Given the description of an element on the screen output the (x, y) to click on. 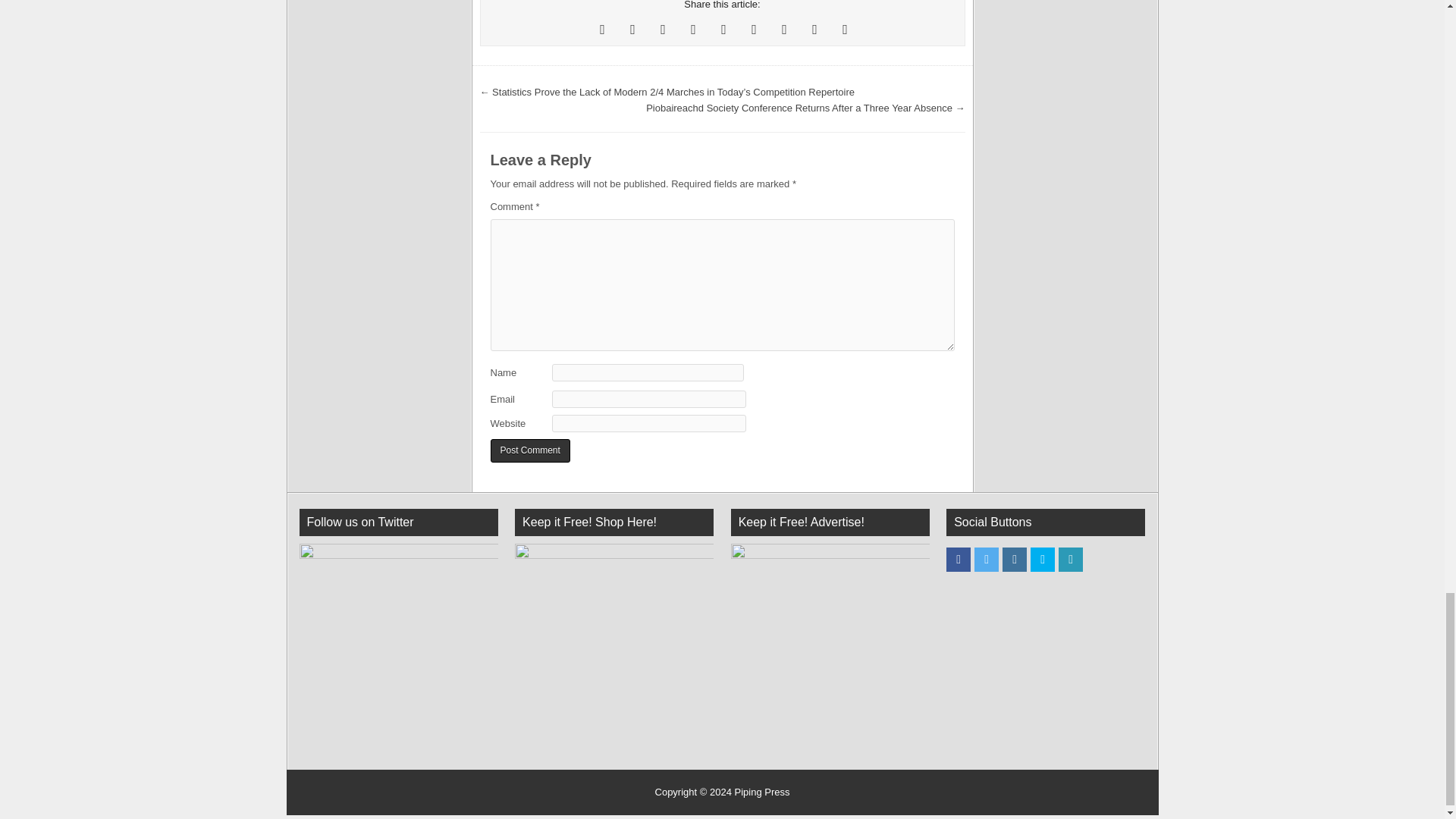
Post Comment (529, 450)
